Given the description of an element on the screen output the (x, y) to click on. 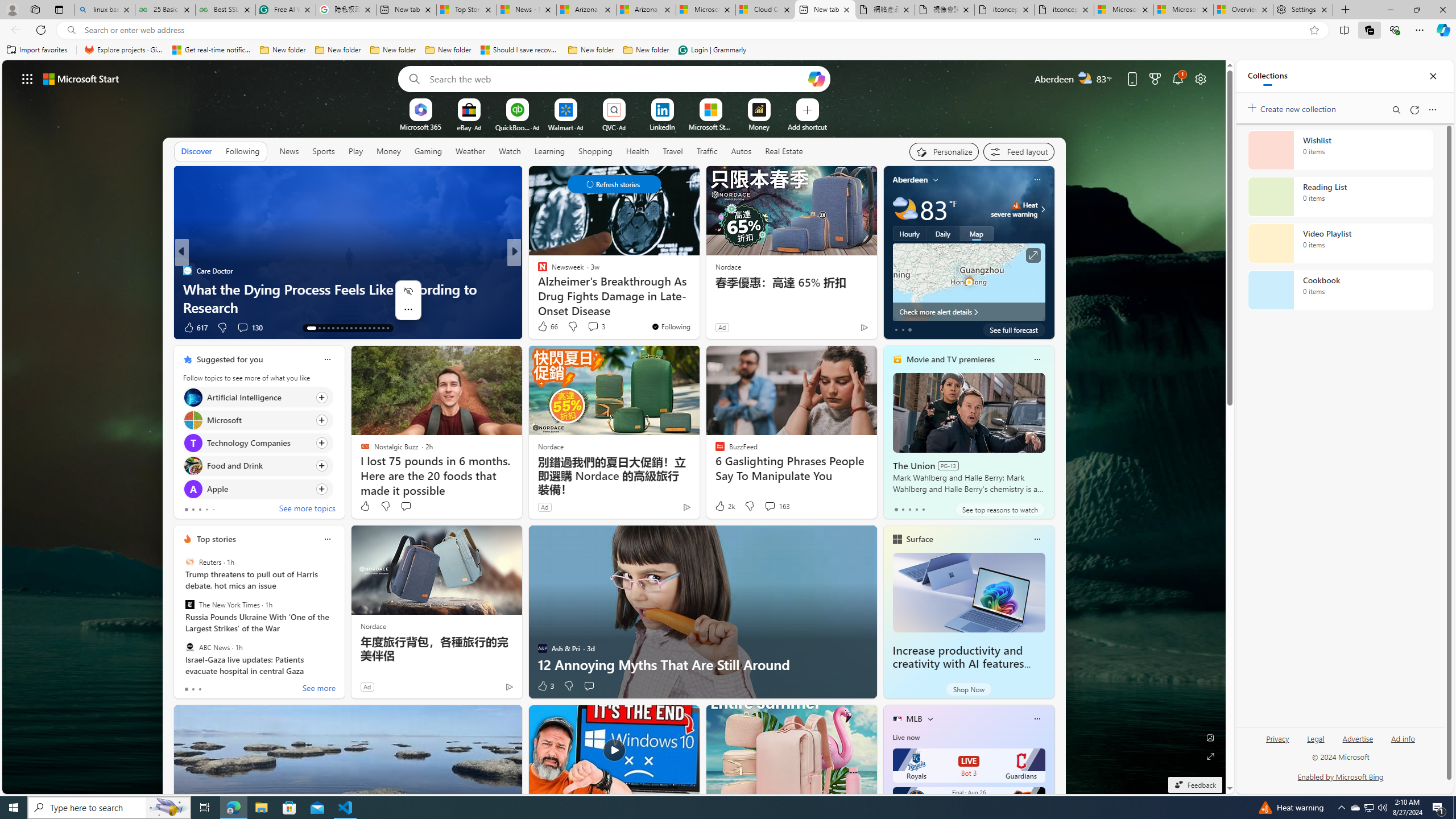
How to mirror iPhone to PC (697, 307)
Heat - Severe Heat severe warning (1014, 208)
Partly cloudy (904, 208)
Class: icon-img (1037, 718)
AutomationID: waffle (27, 78)
Import favorites (36, 49)
See more topics (306, 509)
Nordace.com (552, 288)
Login | Grammarly (712, 49)
